Given the description of an element on the screen output the (x, y) to click on. 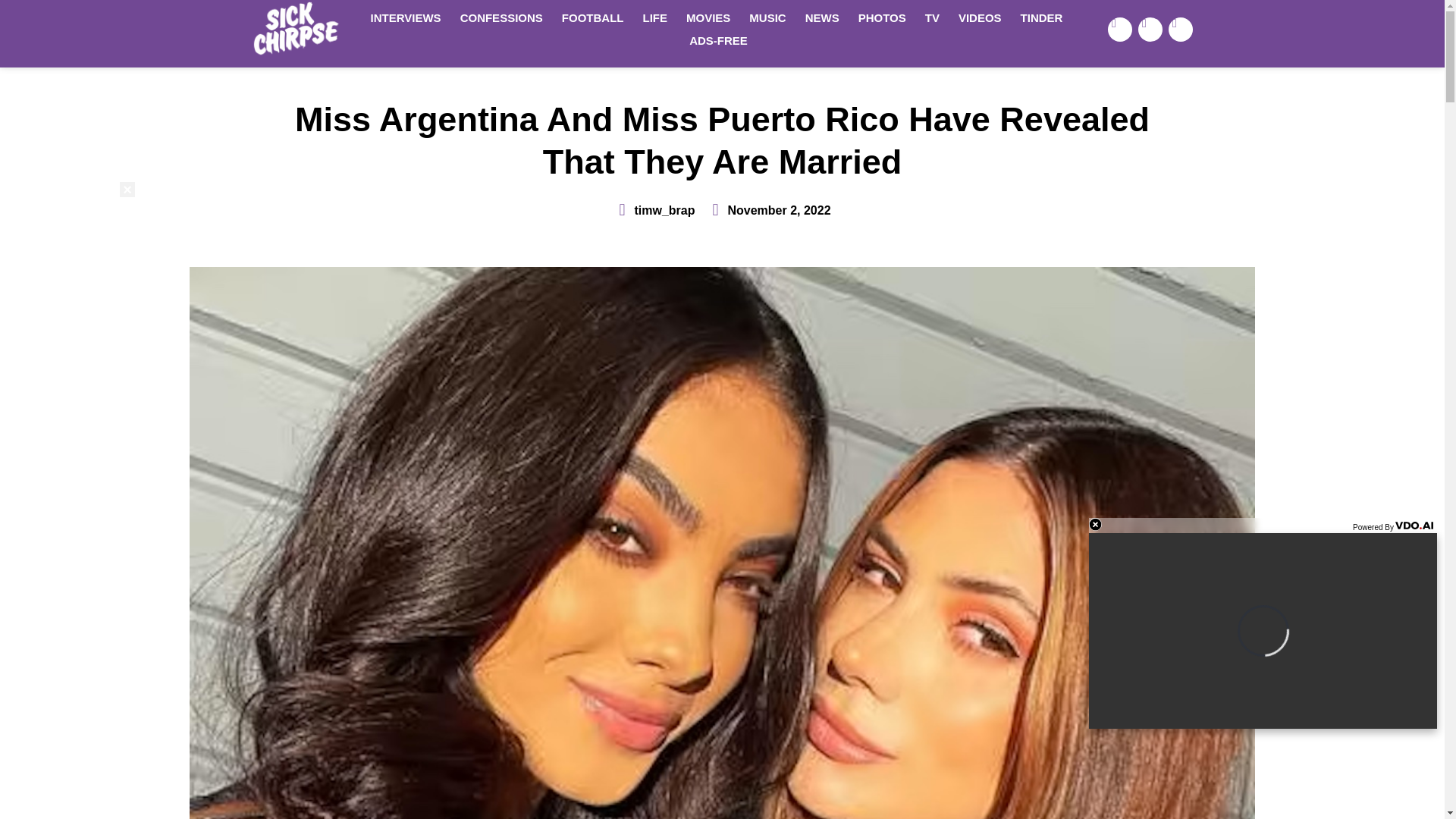
TV (932, 17)
ADS-FREE (718, 40)
INTERVIEWS (405, 17)
MUSIC (767, 17)
Instagram (1180, 29)
MOVIES (708, 17)
NEWS (822, 17)
Twitter (1149, 29)
Facebook (1120, 29)
CONFESSIONS (501, 17)
TINDER (1041, 17)
FOOTBALL (592, 17)
PHOTOS (882, 17)
VIDEOS (979, 17)
LIFE (654, 17)
